Given the description of an element on the screen output the (x, y) to click on. 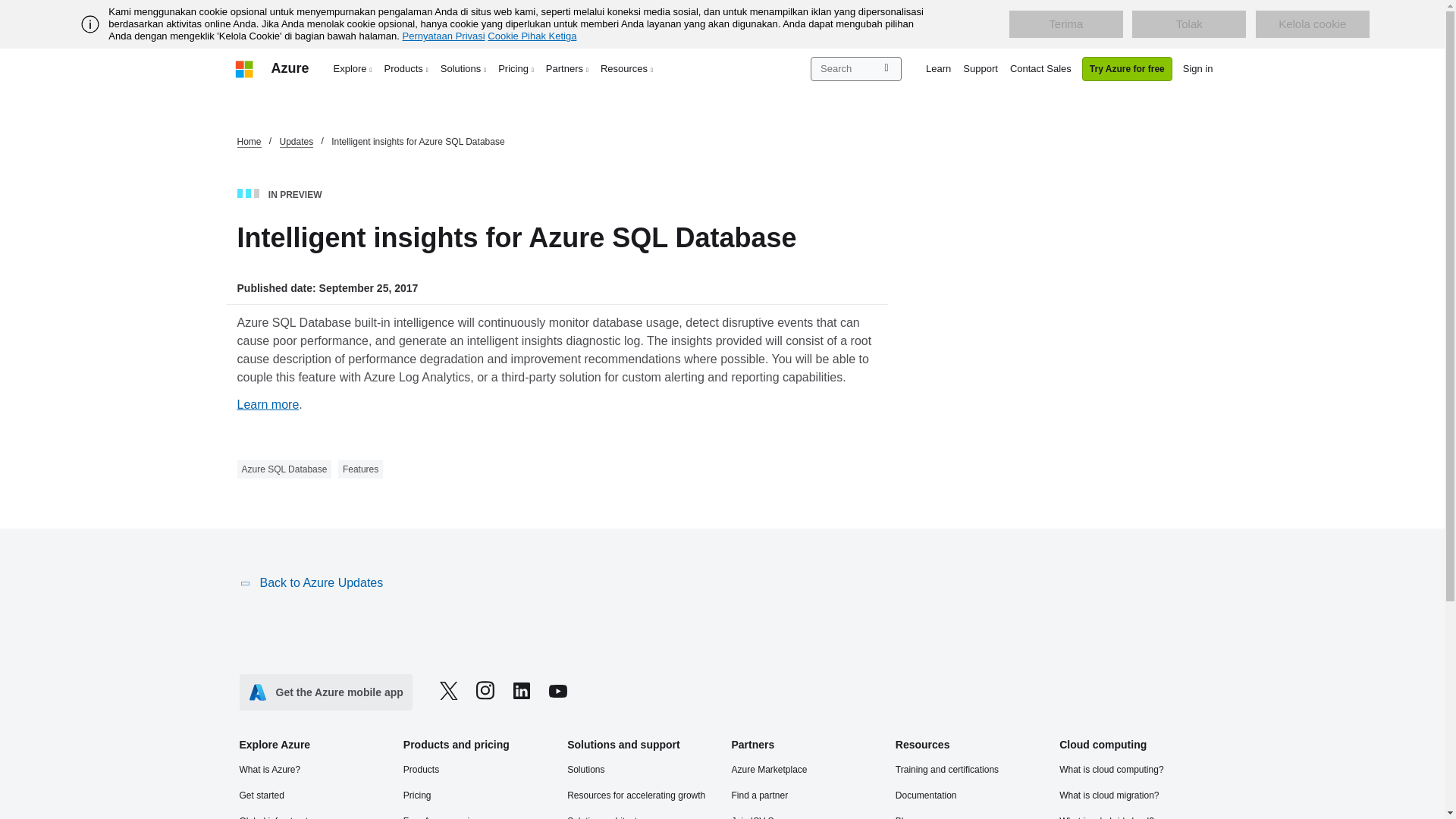
Products (405, 68)
Explore (352, 68)
Cookie Pihak Ketiga (531, 35)
Tolak (1189, 23)
Terima (1065, 23)
Kelola cookie (1312, 23)
Skip to main content (7, 7)
Pernyataan Privasi (443, 35)
Azure (289, 68)
